Given the description of an element on the screen output the (x, y) to click on. 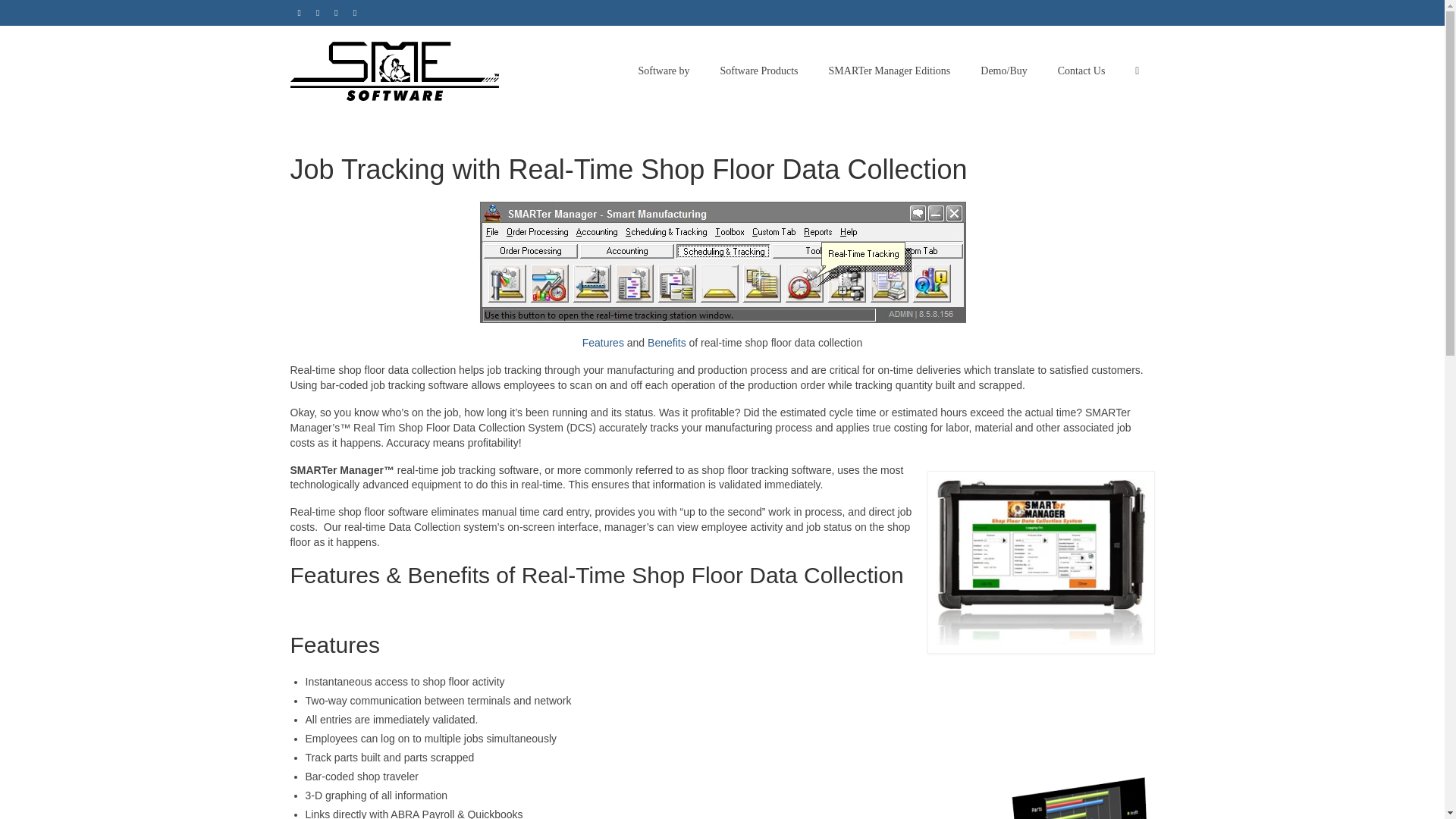
Comparison (889, 71)
Software Products (758, 71)
Software by (663, 71)
